Given the description of an element on the screen output the (x, y) to click on. 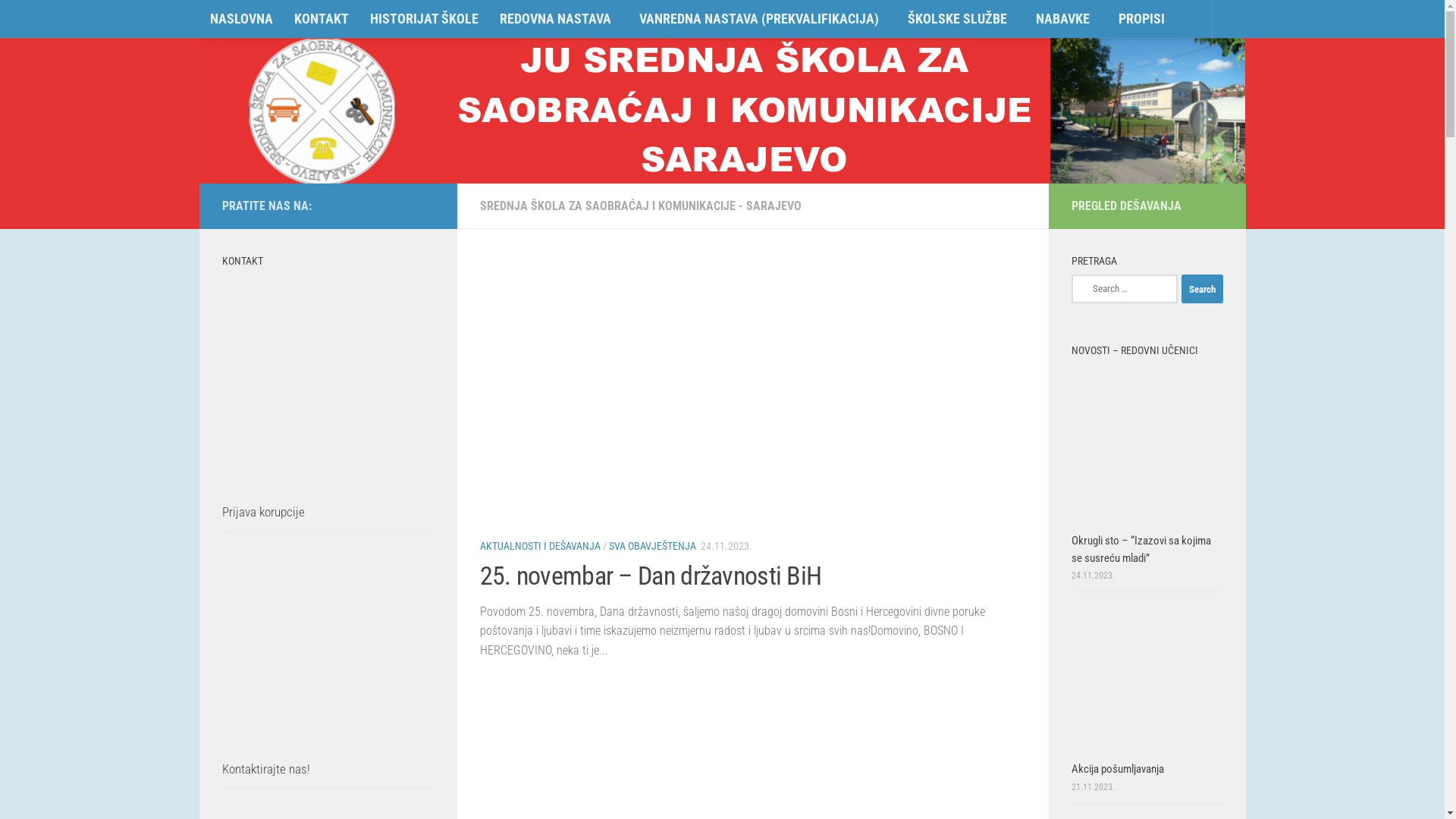
NASLOVNA Element type: text (240, 18)
REDOVNA NASTAVA Element type: text (558, 19)
Skip to content Element type: text (57, 21)
Search Element type: text (1202, 288)
KONTAKT Element type: text (321, 18)
VANREDNA NASTAVA (PREKVALIFIKACIJA) Element type: text (762, 19)
NABAVKE Element type: text (1066, 19)
PROPISI Element type: text (1141, 18)
Prijava korupcije Element type: text (262, 511)
Kontaktirajte nas! Element type: text (265, 768)
